Given the description of an element on the screen output the (x, y) to click on. 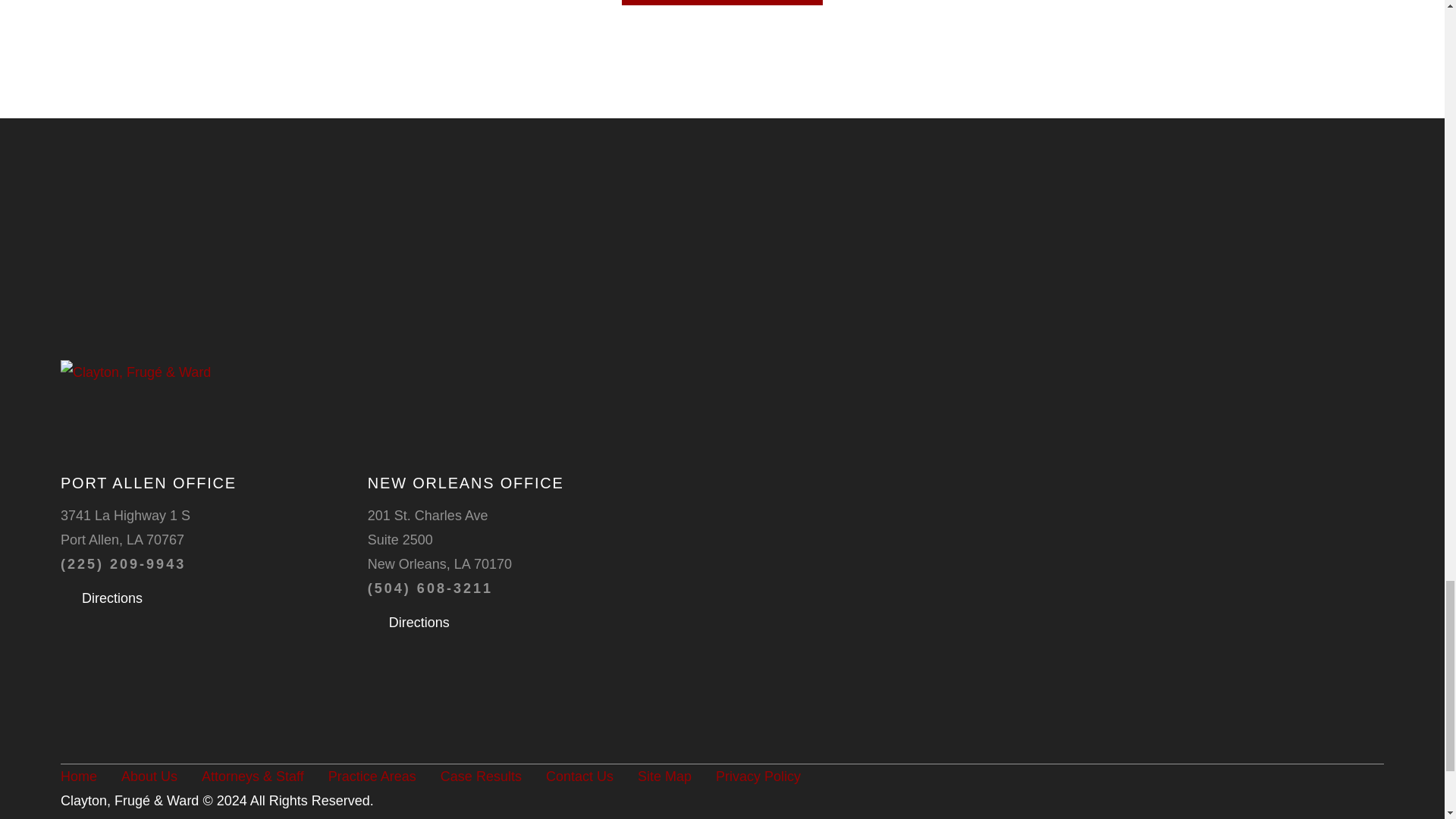
Facebook (1159, 775)
Home (219, 372)
Twitter (1234, 775)
LinkedIn (1197, 775)
